Given the description of an element on the screen output the (x, y) to click on. 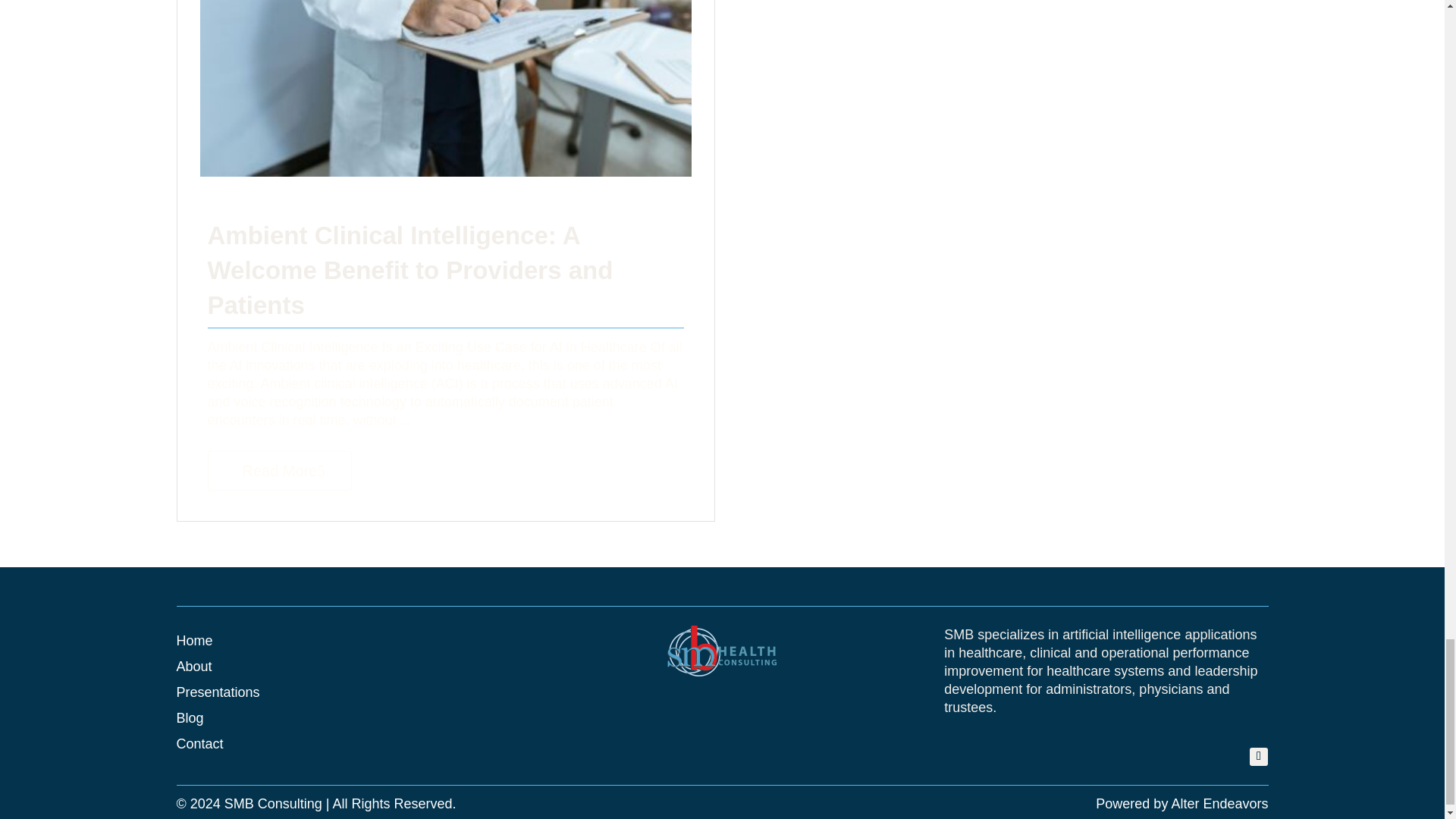
SMBLogo (721, 650)
Contact (199, 744)
Blog (189, 718)
Read More (280, 470)
Presentations (217, 692)
About (193, 667)
Follow on LinkedIn (1258, 756)
Home (194, 641)
